Given the description of an element on the screen output the (x, y) to click on. 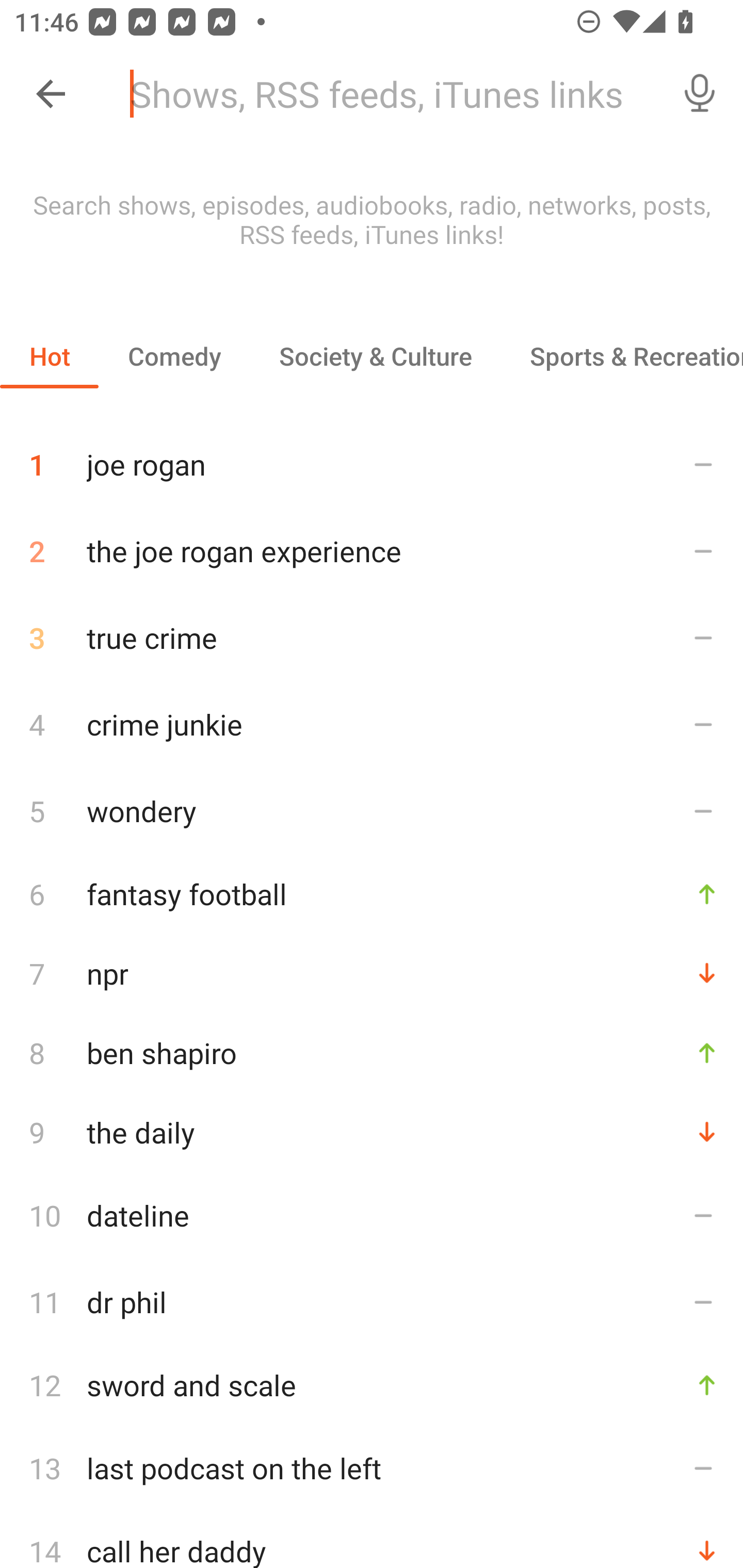
Collapse (50, 93)
Voice Search (699, 93)
Shows, RSS feeds, iTunes links (385, 94)
Hot (49, 355)
Comedy (173, 355)
Society & Culture (374, 355)
Sports & Recreation (621, 355)
1 joe rogan (371, 457)
2 the joe rogan experience (371, 551)
3 true crime (371, 637)
4 crime junkie (371, 723)
5 wondery (371, 810)
6 fantasy football (371, 893)
7 npr (371, 972)
8 ben shapiro (371, 1052)
9 the daily (371, 1131)
10 dateline (371, 1215)
11 dr phil (371, 1302)
12 sword and scale (371, 1385)
13 last podcast on the left (371, 1468)
14 call her daddy (371, 1539)
